Given the description of an element on the screen output the (x, y) to click on. 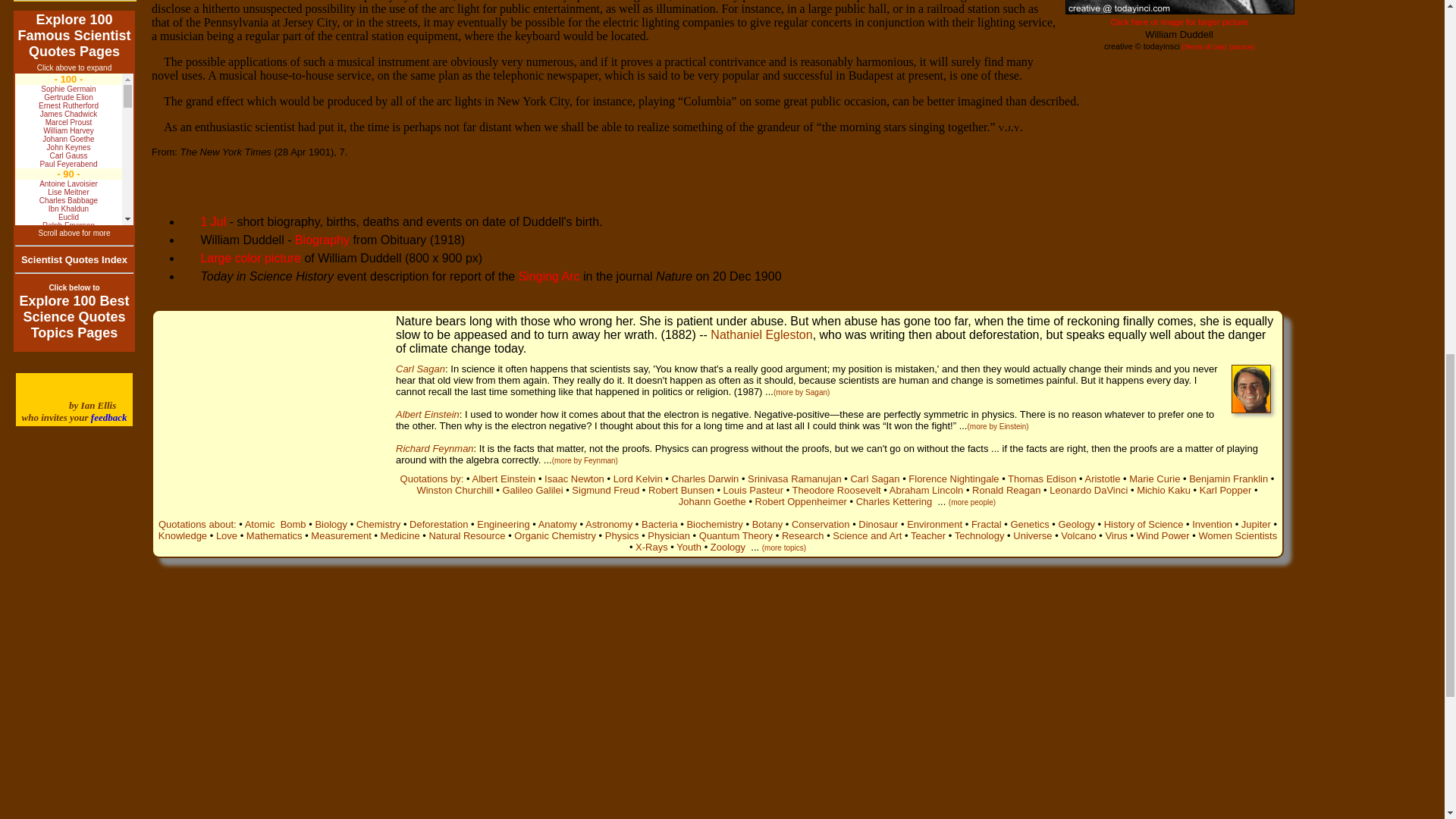
Biography (322, 239)
Albert Einstein (428, 414)
Large color picture (250, 257)
Nathaniel Egleston (761, 334)
1 Jul (203, 221)
Carl Sagan (420, 368)
Richard Feynman (435, 448)
Singing Arc (548, 276)
Click here or image for larger picture (1178, 21)
